Given the description of an element on the screen output the (x, y) to click on. 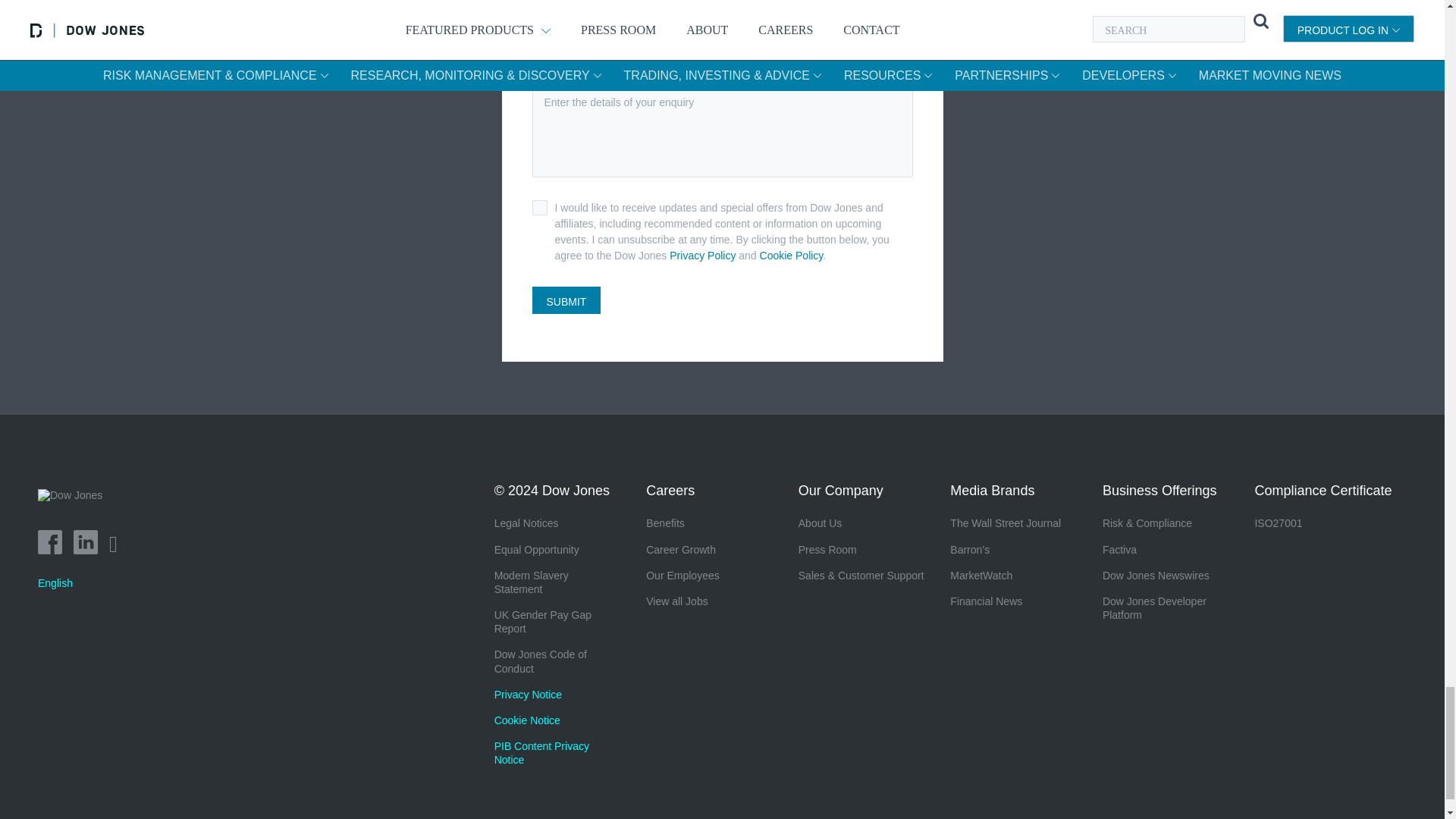
Submit (566, 299)
Newscorp (75, 506)
